Given the description of an element on the screen output the (x, y) to click on. 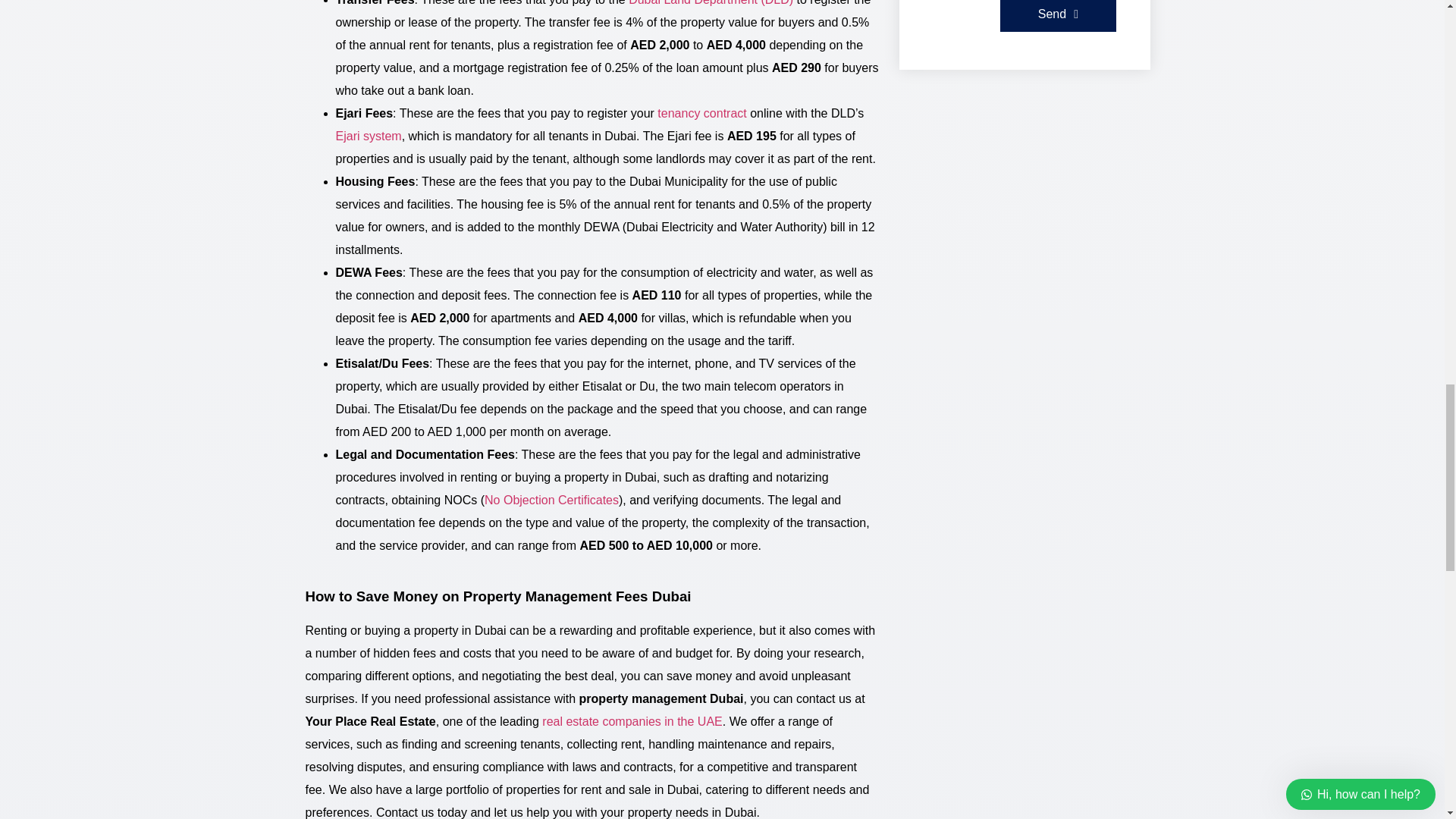
tenancy contract (701, 113)
real estate companies in the UAE (631, 721)
Ejari system (367, 135)
No Objection Certificates (551, 499)
